Given the description of an element on the screen output the (x, y) to click on. 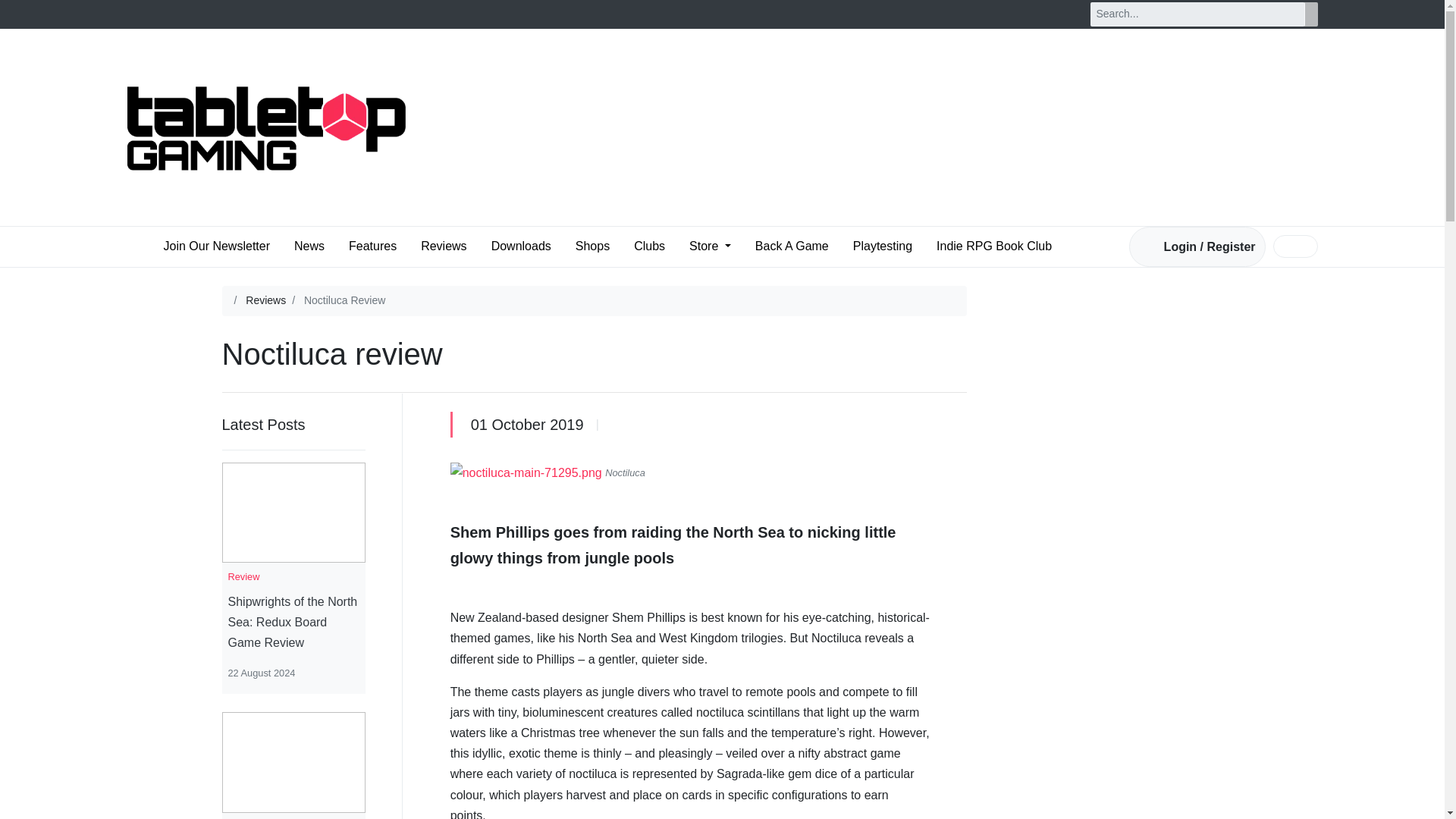
News (309, 246)
Clubs (649, 246)
Shipwrights of the North Sea: Redux Board Game Review (292, 622)
Reviews (442, 246)
Downloads (520, 246)
Back A Game (791, 246)
Features (372, 246)
Indie RPG Book Club (994, 246)
Store (709, 246)
noctiluca-main-71295.png (525, 472)
